Given the description of an element on the screen output the (x, y) to click on. 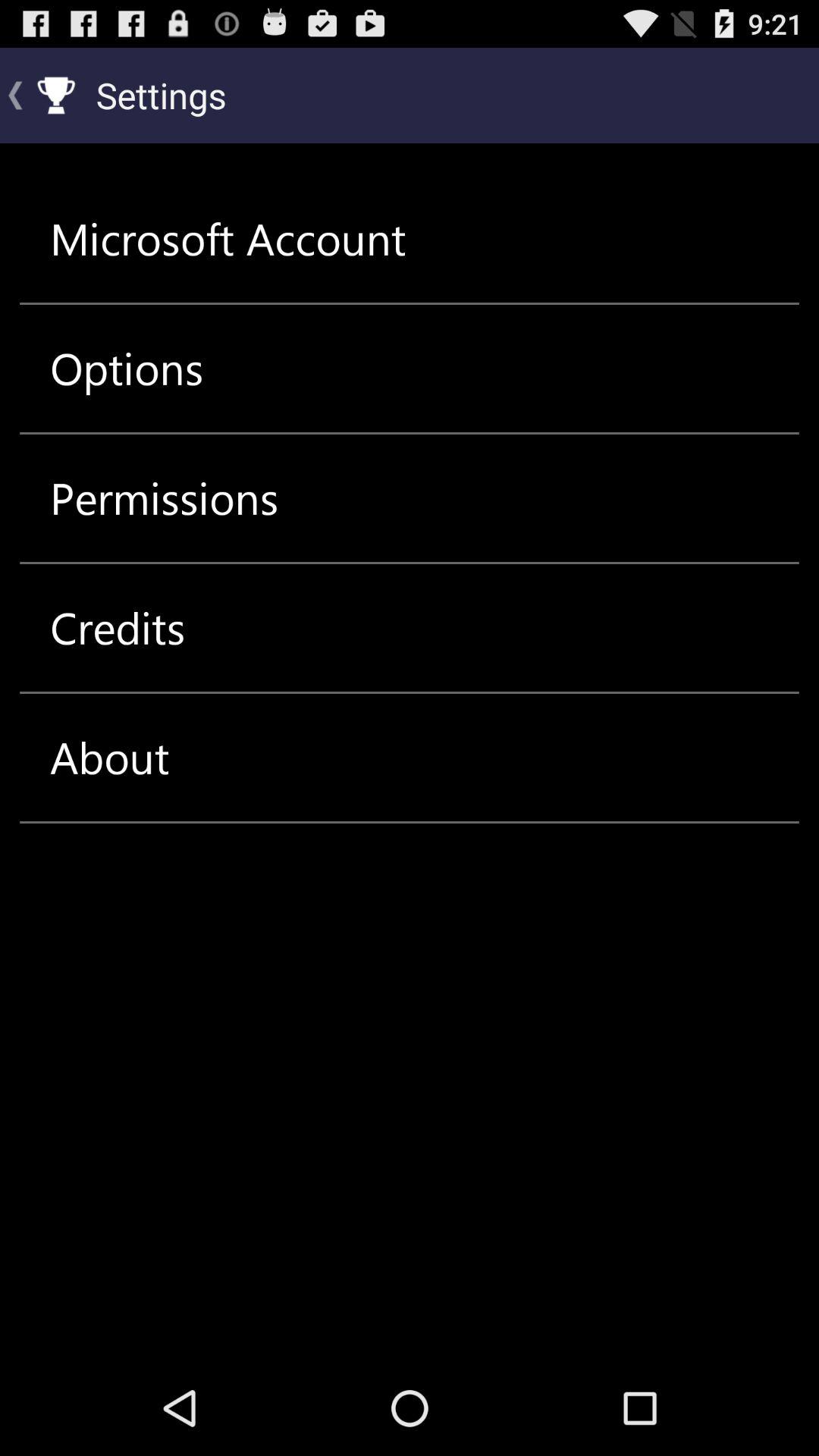
choose the item below the credits icon (109, 757)
